Given the description of an element on the screen output the (x, y) to click on. 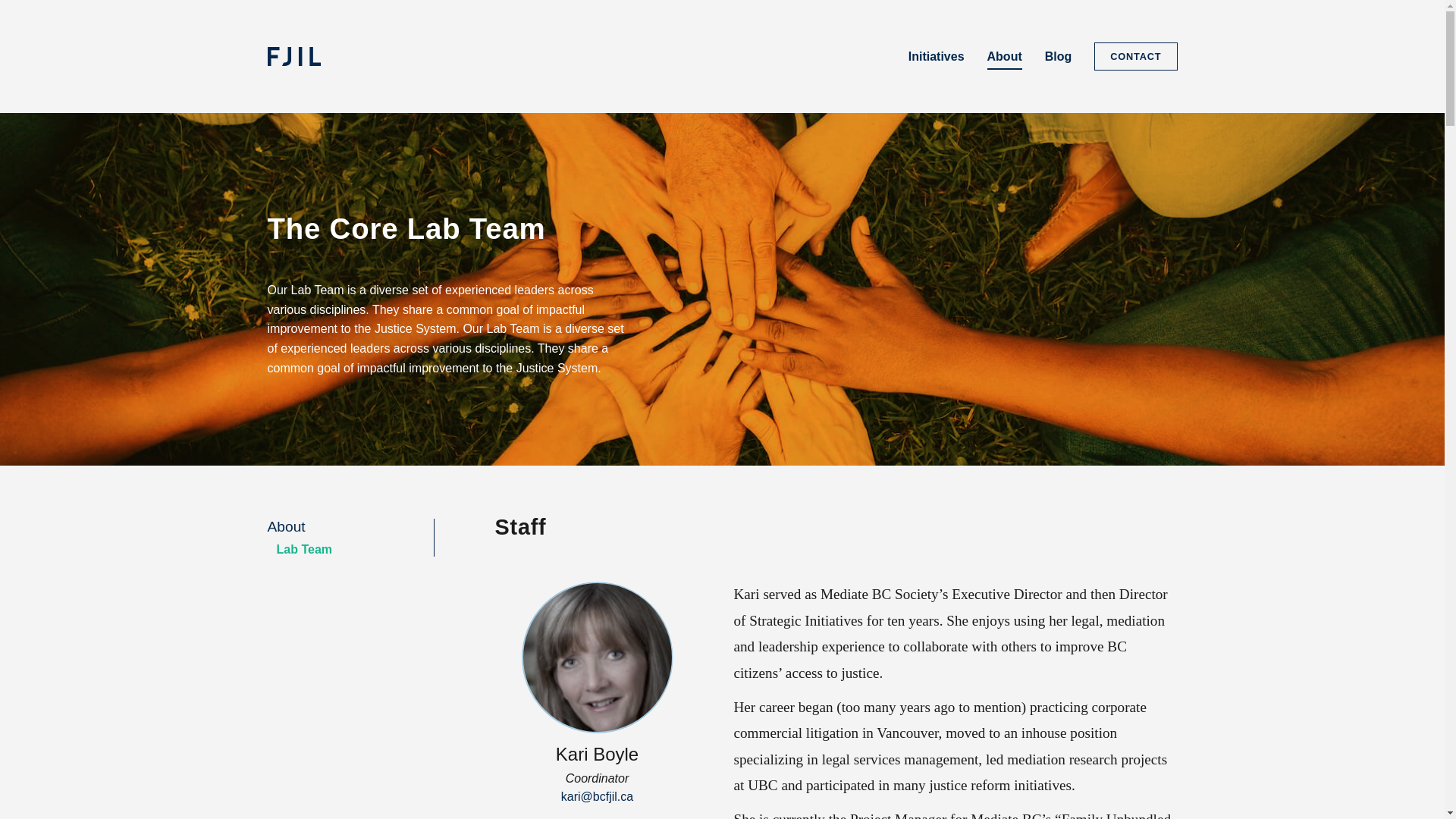
About Element type: text (1004, 59)
Initiatives Element type: text (936, 56)
CONTACT Element type: text (1135, 56)
About Element type: text (285, 526)
Blog Element type: text (1058, 56)
Lab Team Element type: text (304, 548)
kari@bcfjil.ca Element type: text (597, 796)
BC Family Justice Innovation Lab Element type: hover (311, 56)
